Given the description of an element on the screen output the (x, y) to click on. 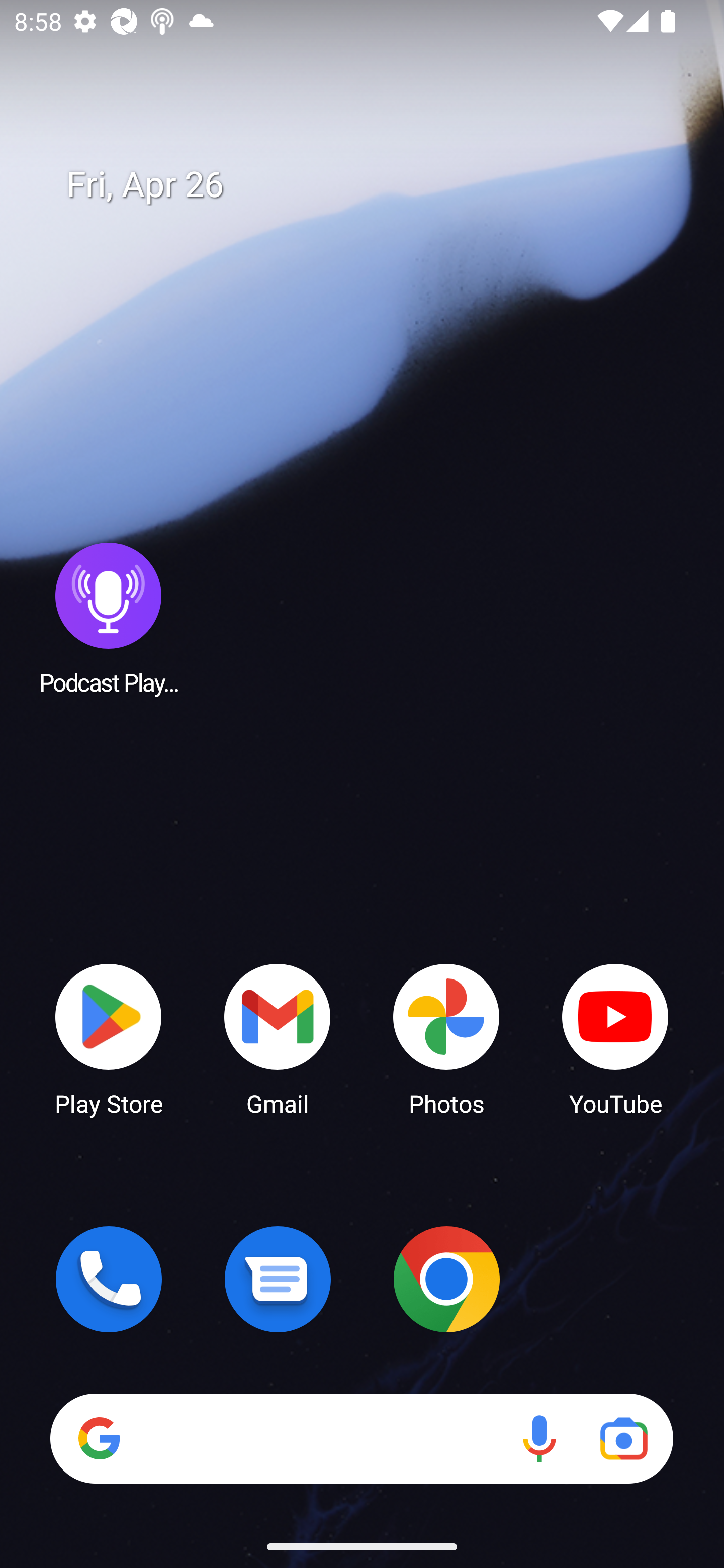
Fri, Apr 26 (375, 184)
Podcast Player (108, 617)
Play Store (108, 1038)
Gmail (277, 1038)
Photos (445, 1038)
YouTube (615, 1038)
Phone (108, 1279)
Messages (277, 1279)
Chrome (446, 1279)
Search Voice search Google Lens (361, 1438)
Voice search (539, 1438)
Google Lens (623, 1438)
